Given the description of an element on the screen output the (x, y) to click on. 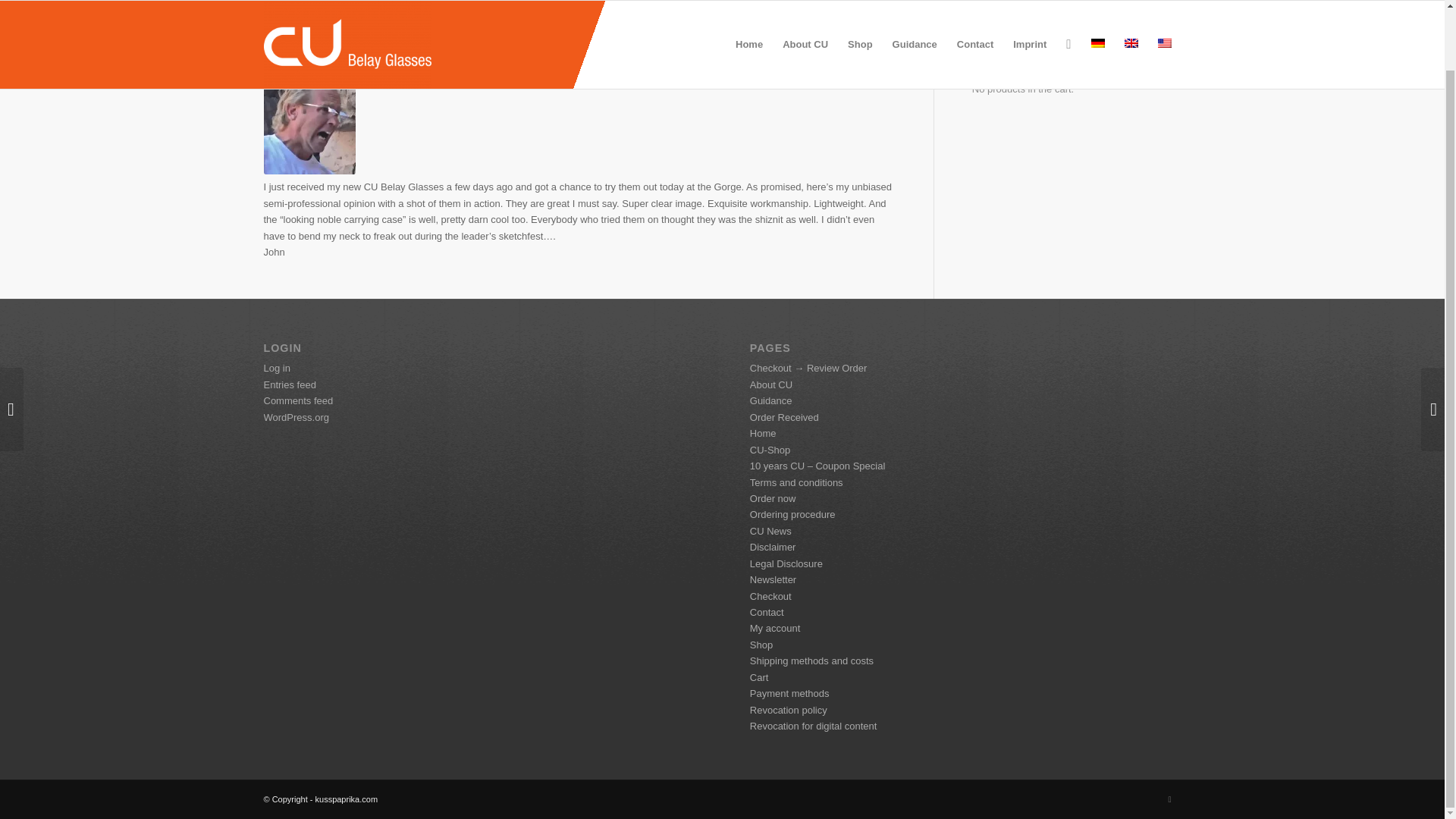
Terms and conditions (796, 482)
Checkout (770, 595)
Home (749, 11)
Home (762, 432)
Legal Disclosure (785, 563)
Imprint (1030, 11)
Order Received (783, 417)
Disclaimer (772, 546)
Newsletter (772, 579)
Contact (975, 11)
Facebook (1169, 798)
Comments feed (298, 400)
WordPress.org (296, 417)
CU-Shop (769, 449)
Guidance (770, 400)
